Given the description of an element on the screen output the (x, y) to click on. 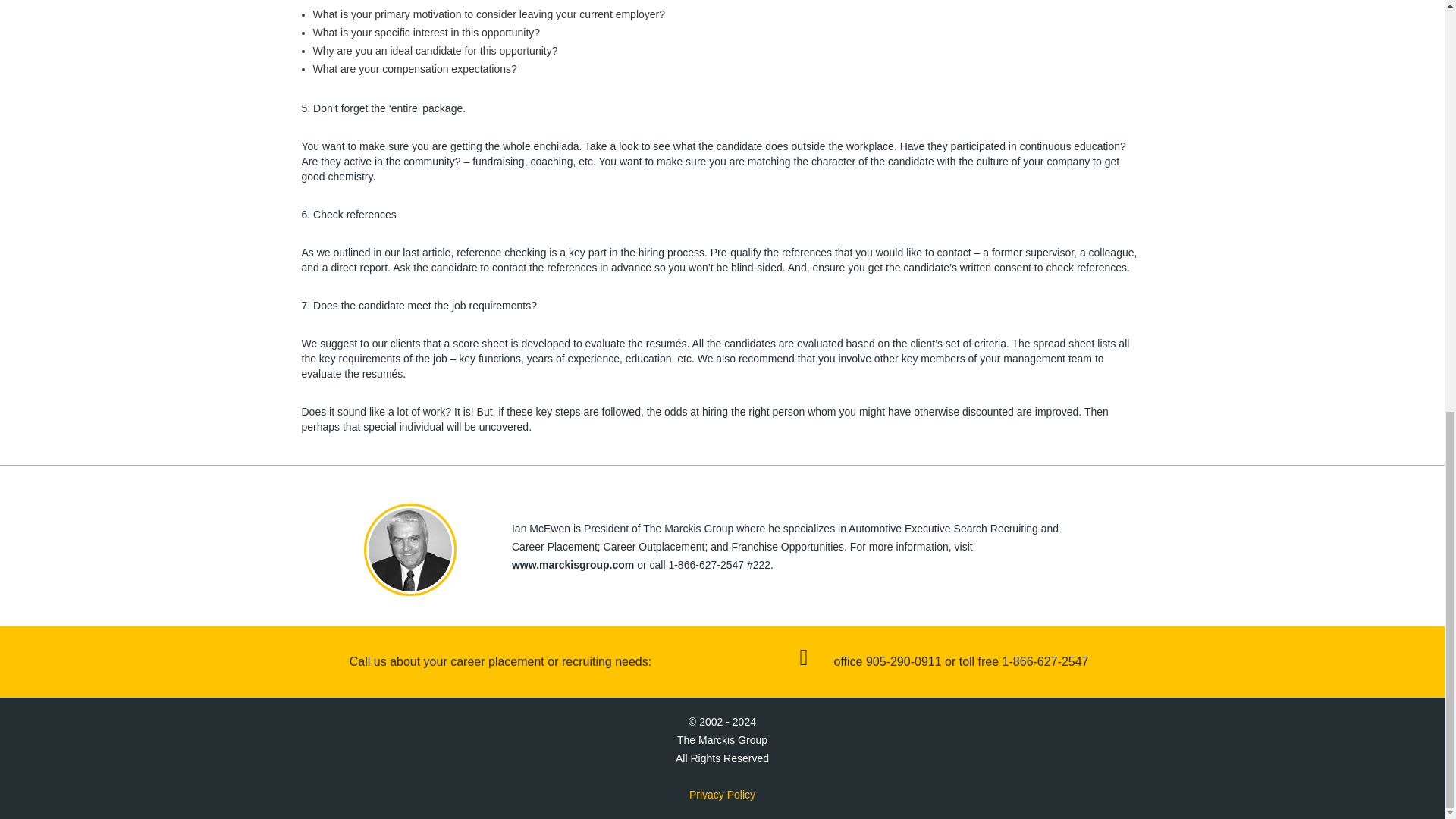
Privacy Policy (721, 794)
www.marckisgroup.com (572, 564)
